Given the description of an element on the screen output the (x, y) to click on. 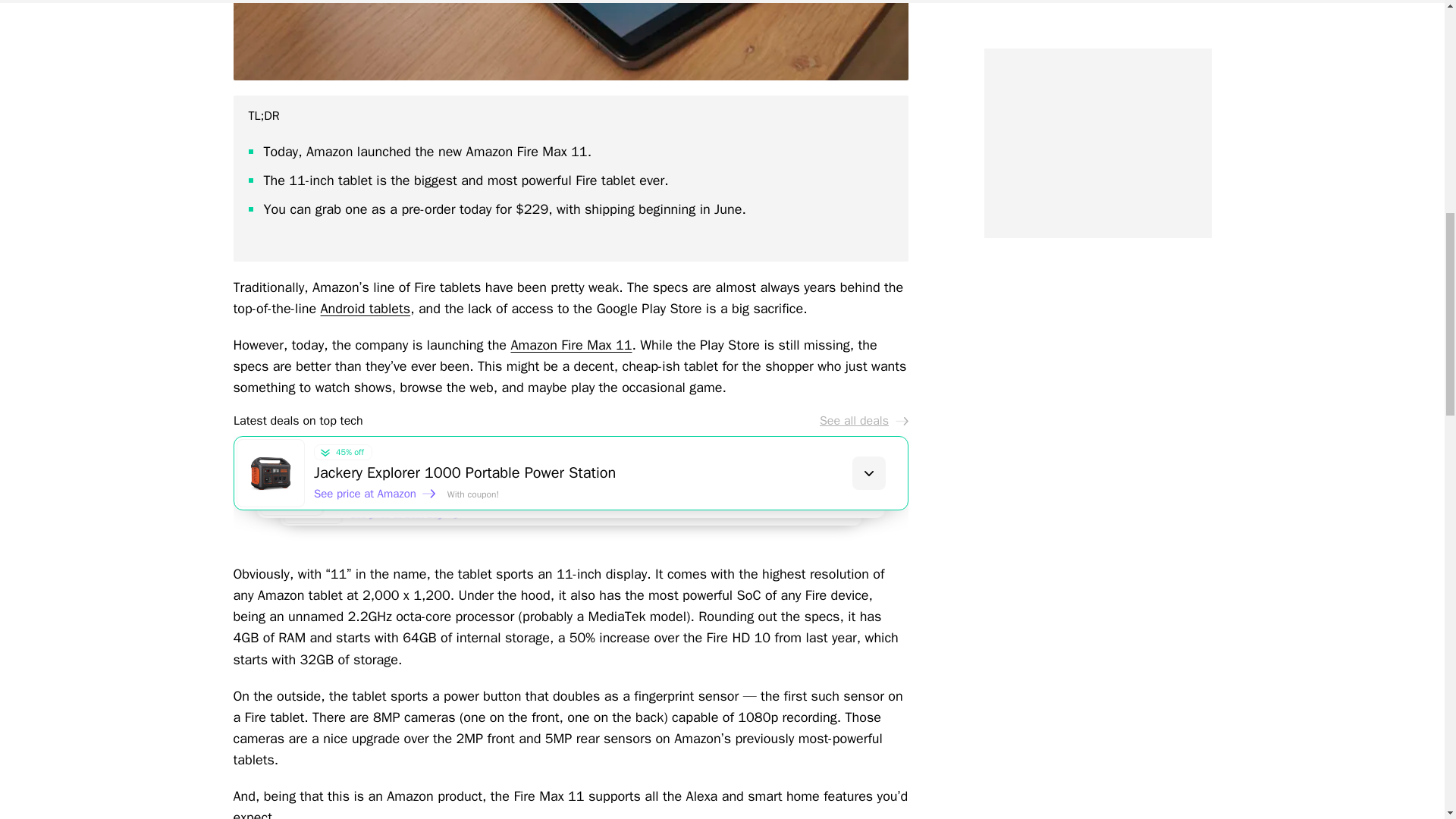
Apple HomePod Mini (644, 508)
Amazon Fire Max 11 (571, 344)
Jackery Explorer 100 Plus (627, 490)
See price at Best Buy (394, 506)
See price at Amazon (374, 493)
Android tablets (365, 308)
Amazon Fire Max 11 on Table (570, 40)
Jackery Explorer 1000 Portable Power Station (609, 473)
See price at Best Buy (412, 519)
See all deals (862, 420)
